Given the description of an element on the screen output the (x, y) to click on. 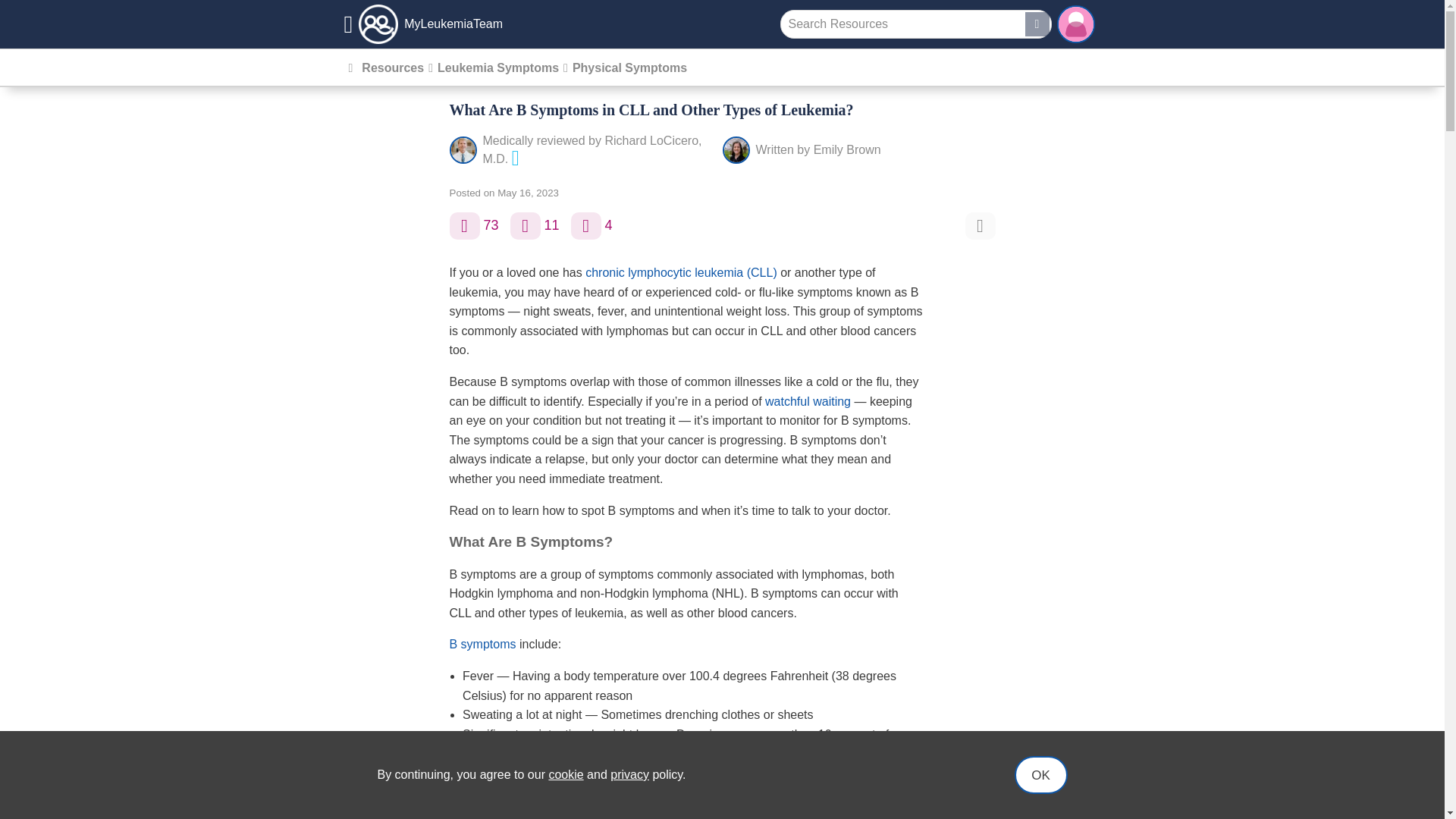
OK (1040, 774)
Resources (392, 67)
cookie (565, 774)
MyLeukemiaTeam (423, 23)
Richard LoCicero, M.D. (591, 149)
Ask a question (585, 225)
Emily Brown (846, 149)
Leukemia Symptoms (497, 67)
I like this (463, 225)
Physical Symptoms (629, 67)
